Given the description of an element on the screen output the (x, y) to click on. 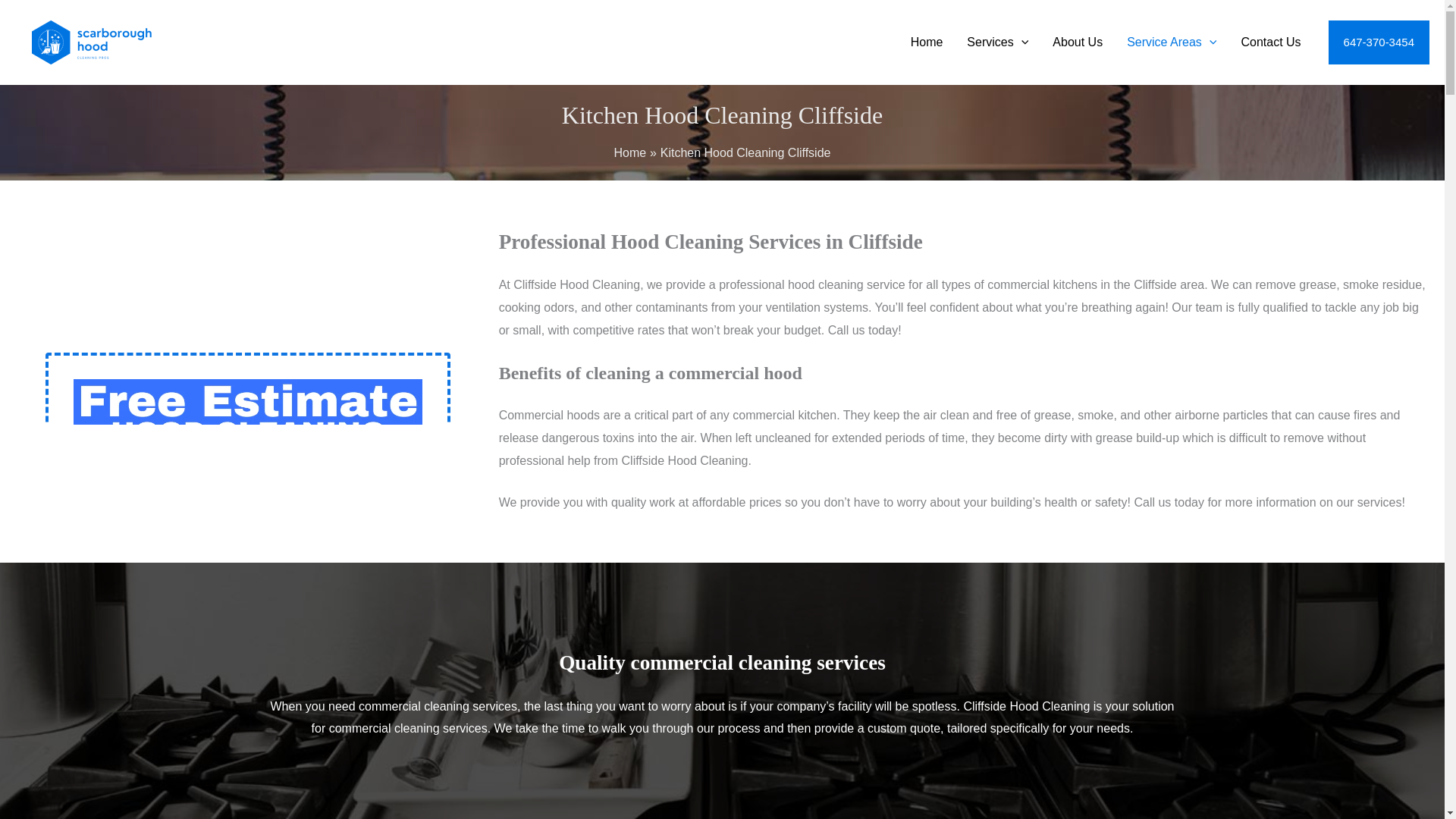
About Us (1078, 41)
Home (926, 41)
Services (998, 41)
Service Areas (1171, 41)
